Given the description of an element on the screen output the (x, y) to click on. 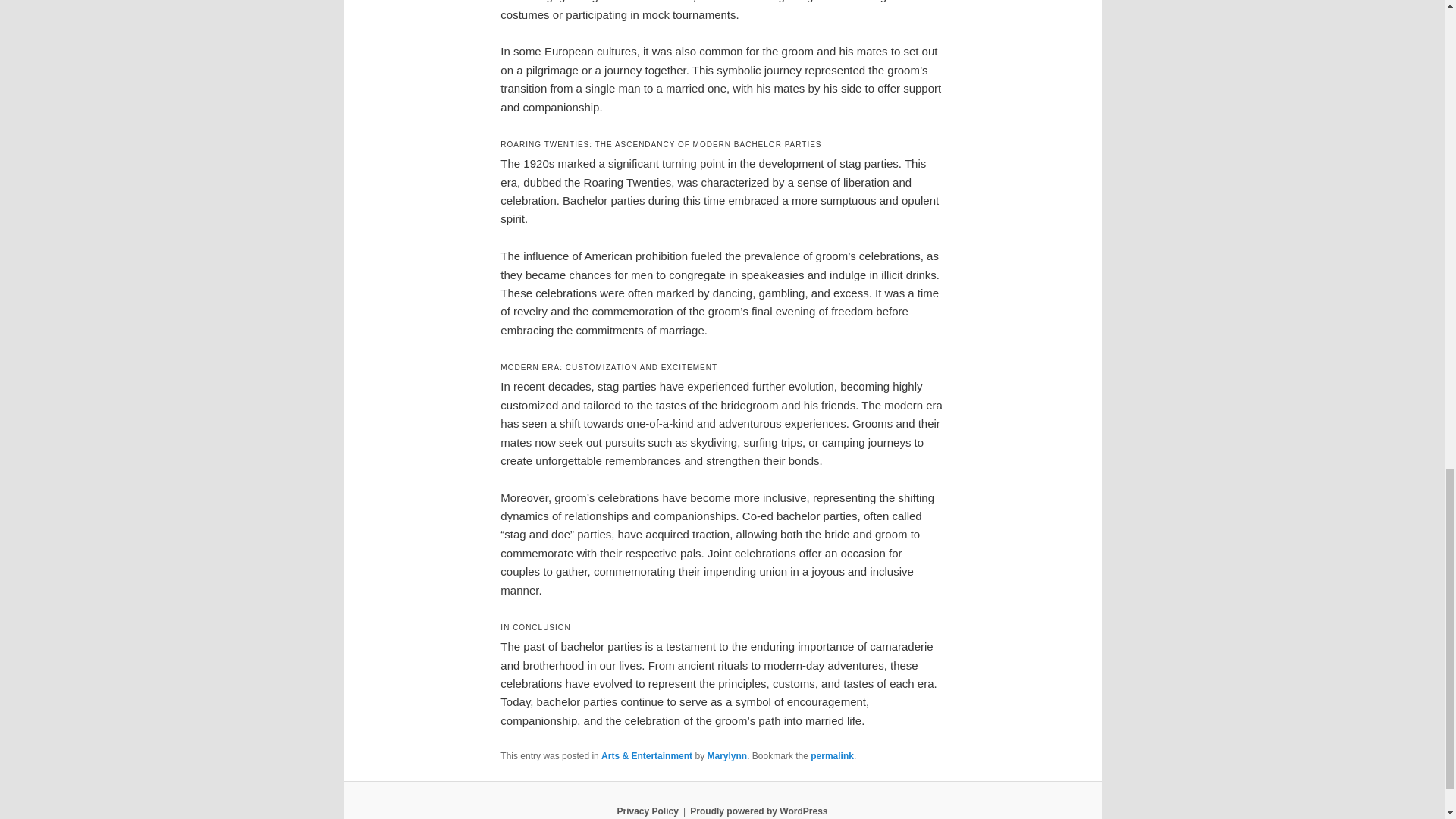
Proudly powered by WordPress (758, 810)
Semantic Personal Publishing Platform (758, 810)
Privacy Policy (646, 810)
Marylynn (726, 756)
permalink (831, 756)
